Given the description of an element on the screen output the (x, y) to click on. 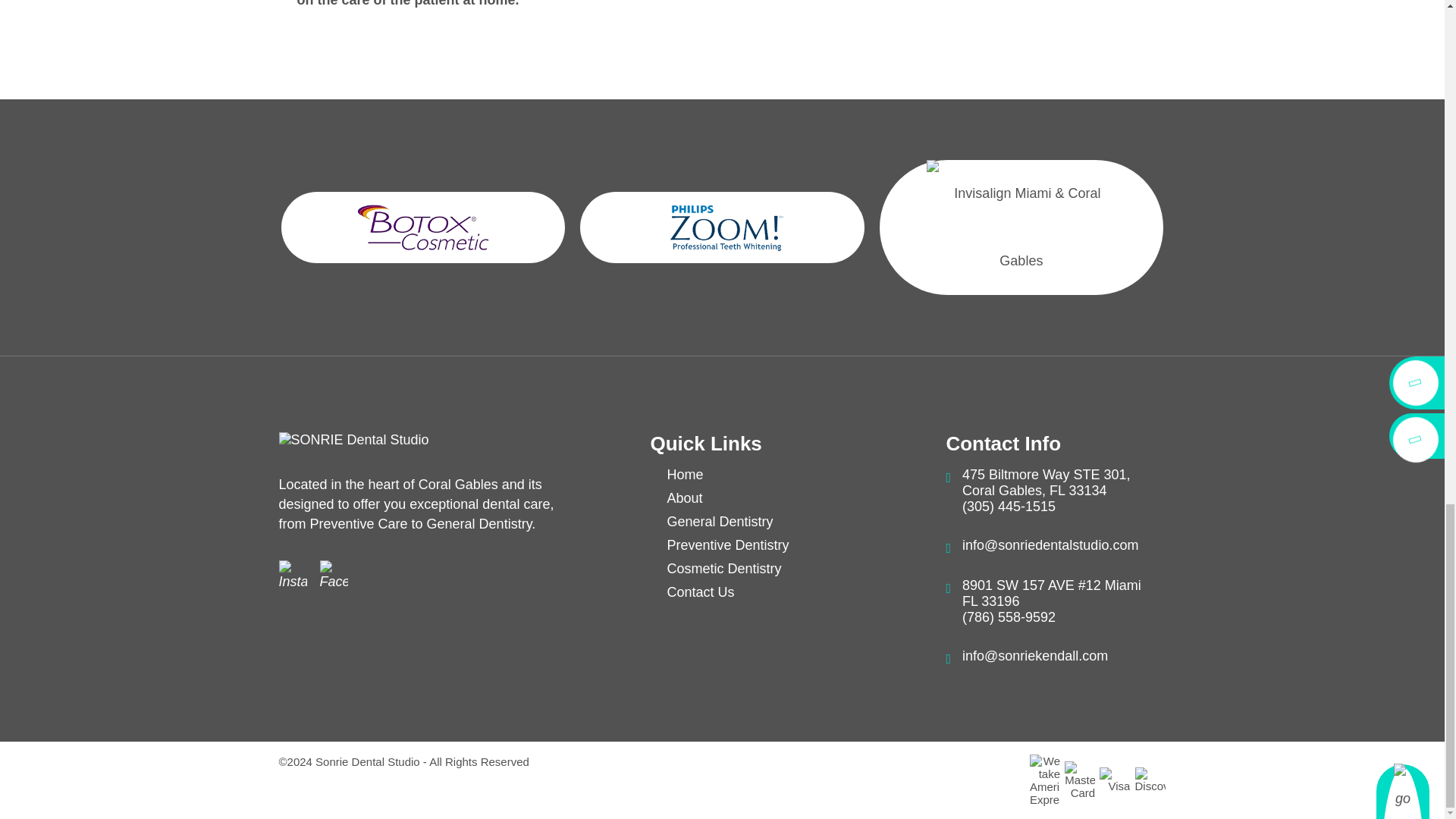
General Dentistry (719, 521)
Cosmetic Dentistry (723, 568)
Preventive Dentistry (727, 544)
Home (684, 474)
About (683, 498)
Contact Us (699, 591)
